Given the description of an element on the screen output the (x, y) to click on. 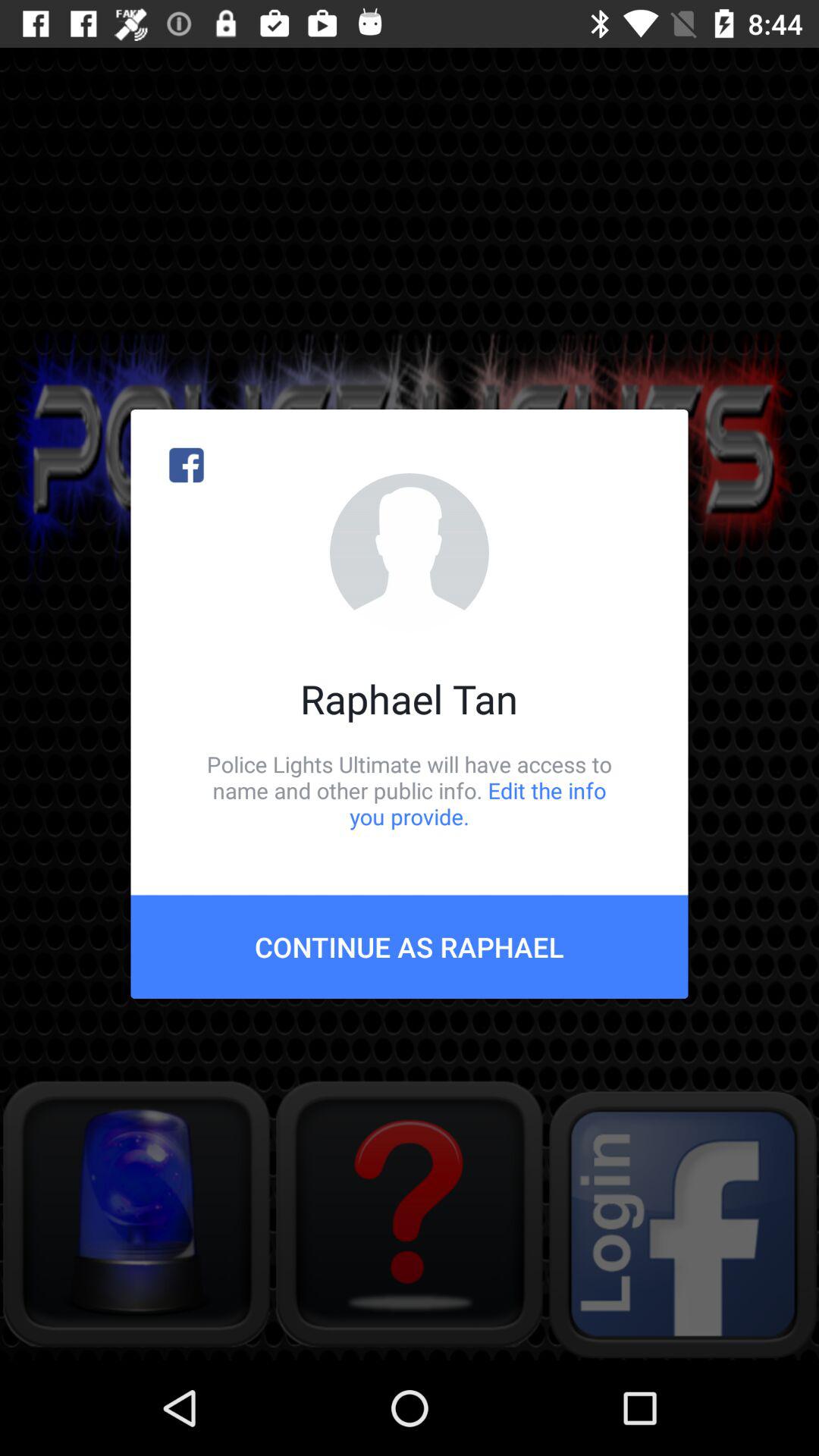
press the icon above continue as raphael icon (409, 790)
